Given the description of an element on the screen output the (x, y) to click on. 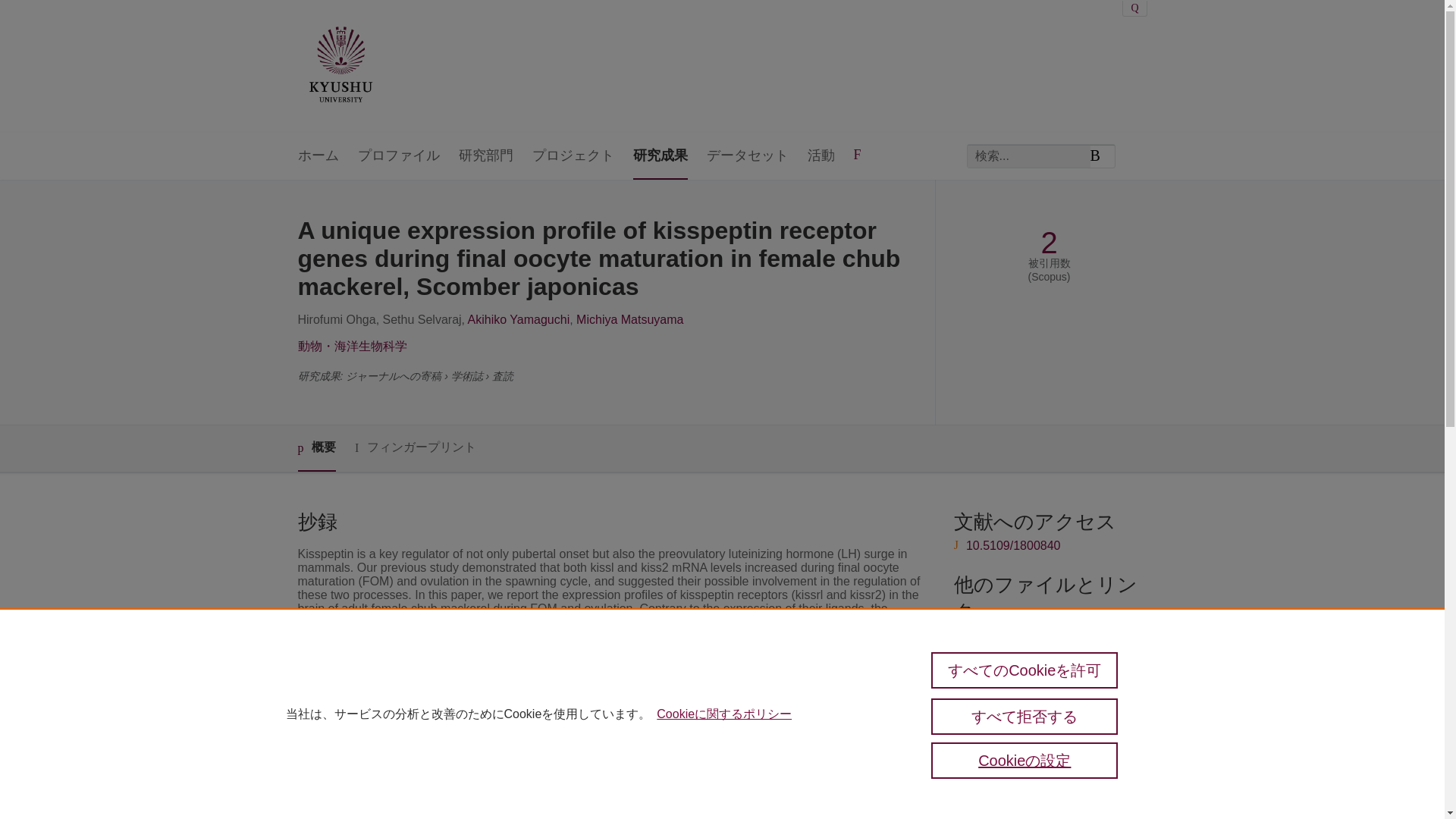
Journal of the Faculty of Agriculture, Kyushu University (651, 744)
Michiya Matsuyama (629, 318)
Akihiko Yamaguchi (518, 318)
